Given the description of an element on the screen output the (x, y) to click on. 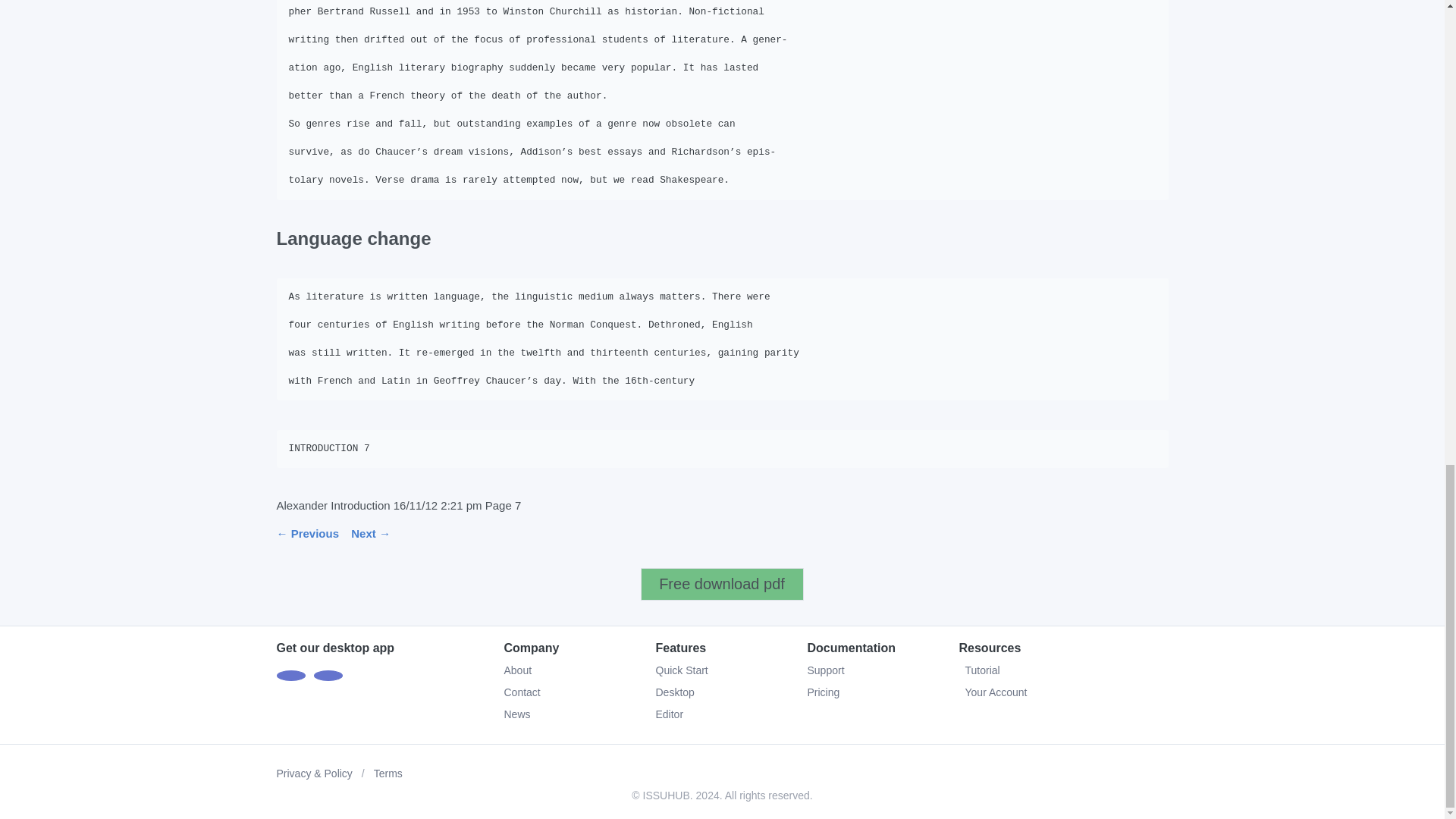
Support (825, 670)
News (516, 714)
Desktop (674, 692)
Pricing (823, 692)
Free download pdf (721, 584)
Contact (521, 692)
Tutorial (1062, 670)
Quick Start (681, 670)
Terms (388, 773)
Free download pdf (721, 584)
Editor (668, 714)
About (517, 670)
Your Account (1062, 692)
